Given the description of an element on the screen output the (x, y) to click on. 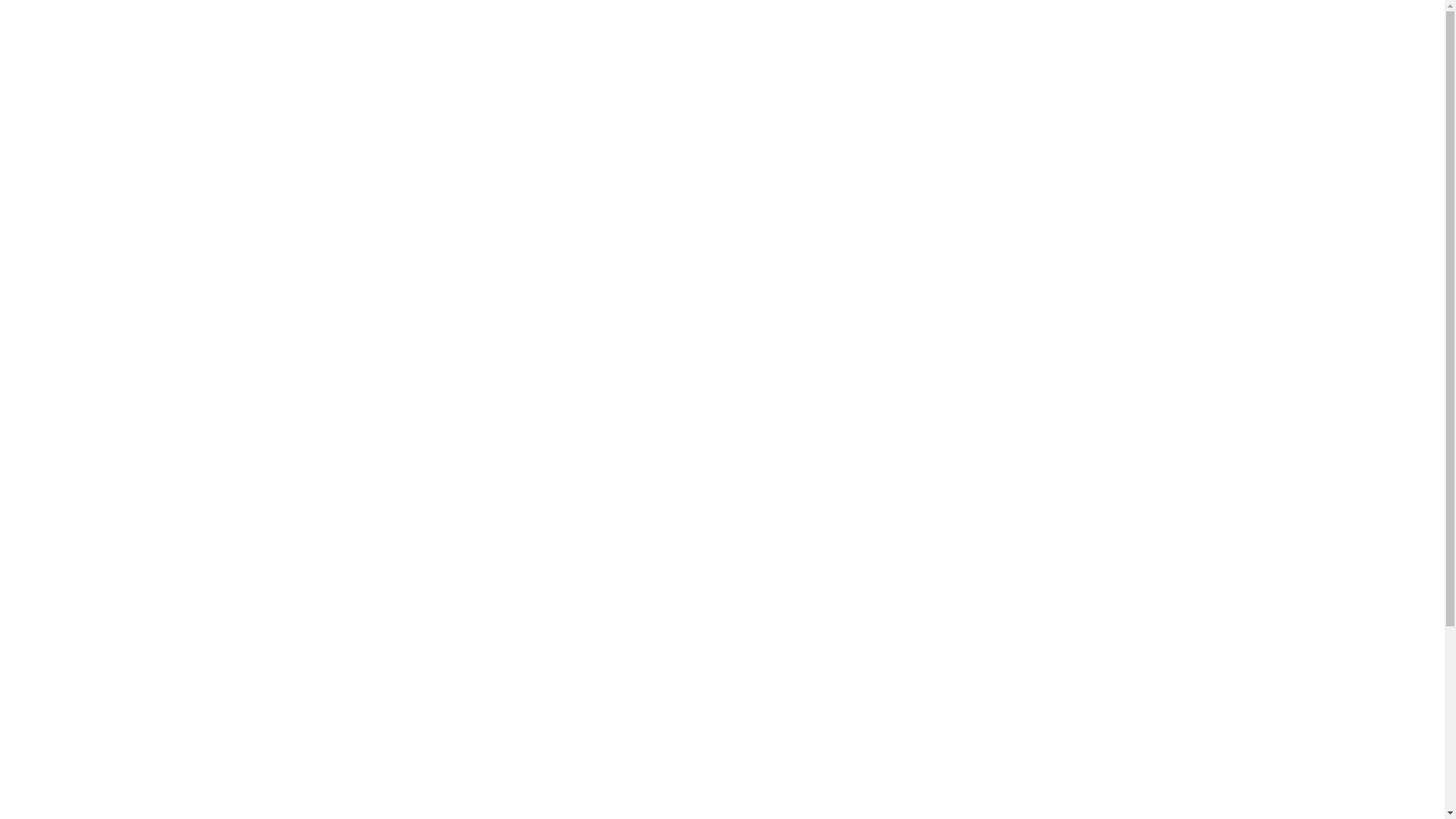
Why ClearMedia? Element type: text (177, 62)
Programs & Resources Element type: text (113, 384)
Microsoft AI Cloud Partner Program Element type: text (294, 342)
Learning Paths Element type: text (150, 174)
Calendar Element type: text (134, 146)
Register Element type: text (587, 479)
Technical Element type: text (134, 285)
Login Element type: text (587, 502)
Build your Security practice Element type: text (271, 369)
Microsoft Customer Journey-In-a-Box Playbooks Element type: text (331, 397)
Initiative ClearMedia Element type: text (185, 89)
Marketing More With Less Element type: text (266, 425)
Podcasts Element type: text (135, 230)
Incentives for Partners Element type: text (257, 314)
Sales Element type: text (123, 258)
All Trainings Element type: text (142, 202)
Business Offer Development Element type: text (274, 453)
ClearMedia Blog Feed Element type: text (191, 117)
ClearMedia Element type: text (81, 90)
Training Element type: text (71, 216)
